Given the description of an element on the screen output the (x, y) to click on. 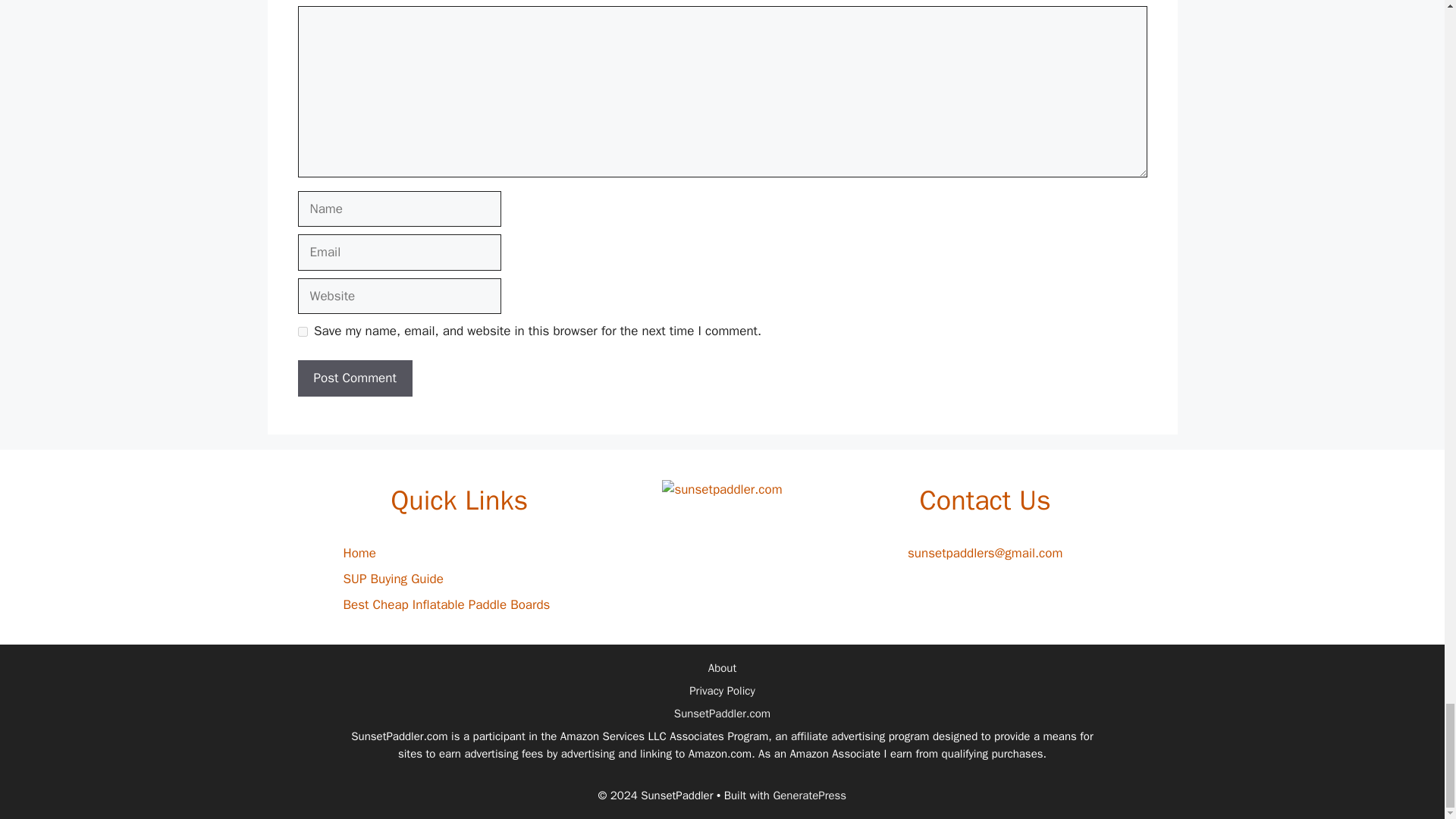
GeneratePress (809, 795)
SunsetPaddler.com (722, 713)
Post Comment (354, 378)
About (721, 667)
Post Comment (354, 378)
Home (358, 553)
yes (302, 331)
Privacy Policy (721, 690)
SUP Buying Guide (392, 578)
Best Cheap Inflatable Paddle Boards (446, 604)
